Given the description of an element on the screen output the (x, y) to click on. 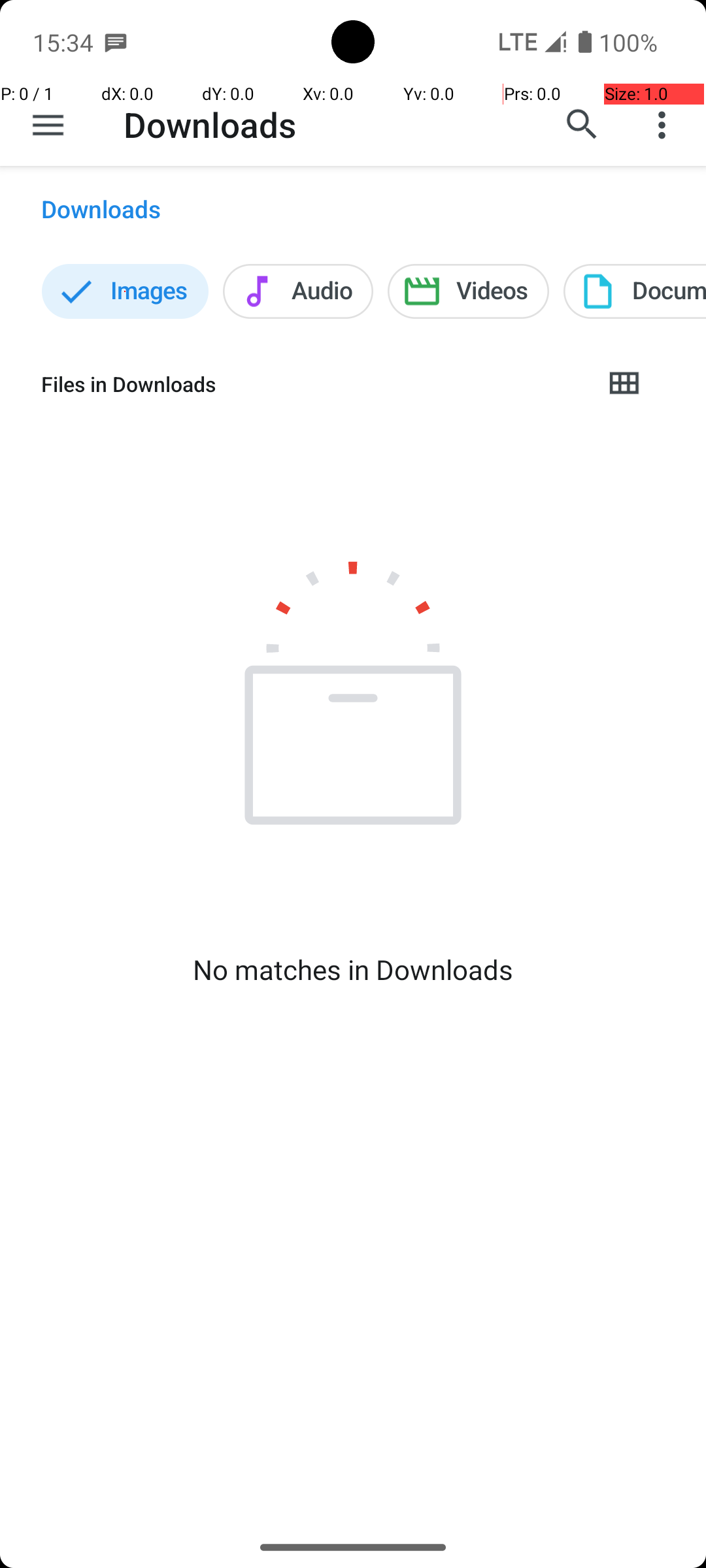
SMS Messenger notification: +15505050843 Element type: android.widget.ImageView (115, 41)
